Given the description of an element on the screen output the (x, y) to click on. 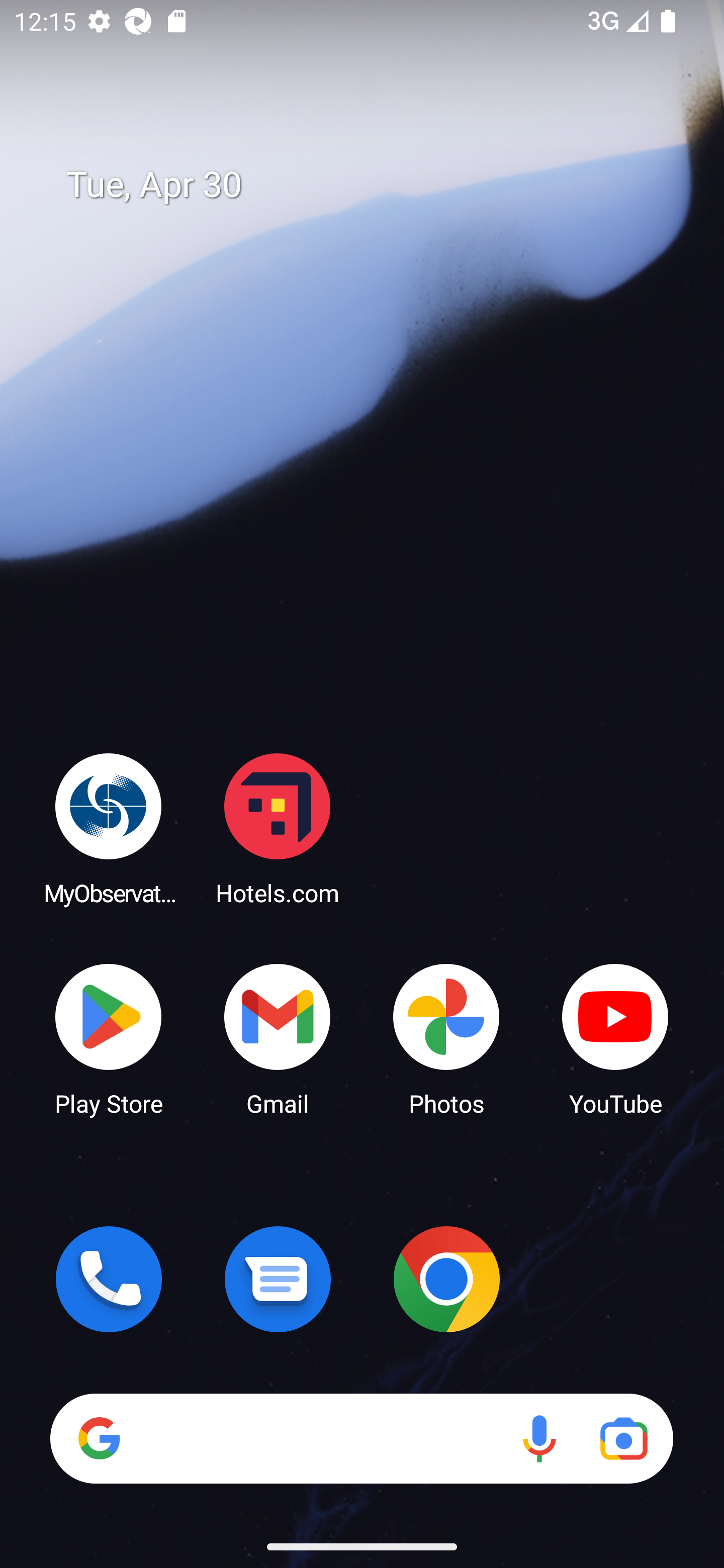
Tue, Apr 30 (375, 184)
MyObservatory (108, 828)
Hotels.com (277, 828)
Play Store (108, 1038)
Gmail (277, 1038)
Photos (445, 1038)
YouTube (615, 1038)
Phone (108, 1279)
Messages (277, 1279)
Chrome (446, 1279)
Voice search (539, 1438)
Google Lens (623, 1438)
